Given the description of an element on the screen output the (x, y) to click on. 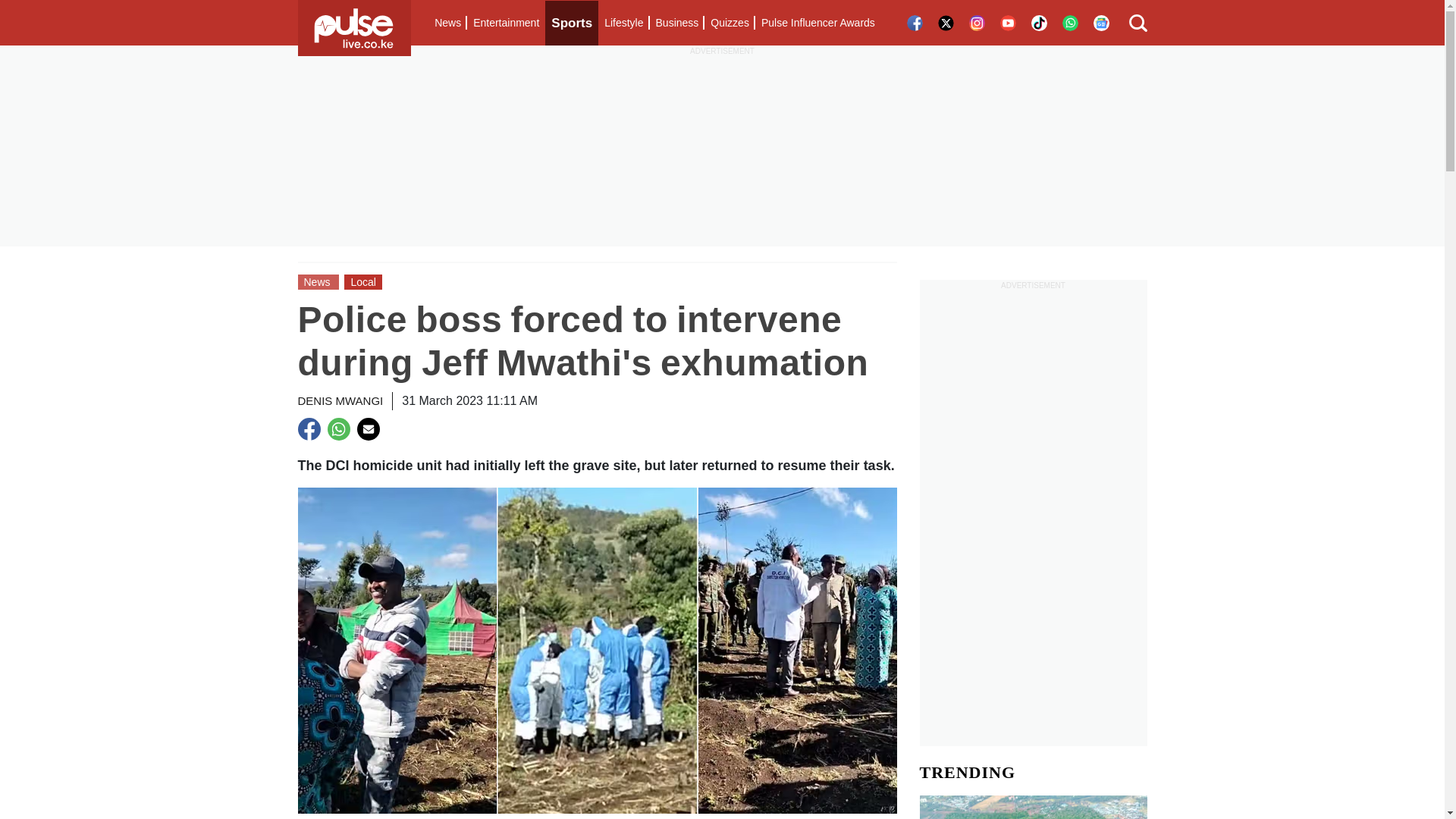
Entertainment (505, 22)
Business (676, 22)
Sports (571, 22)
Lifestyle (623, 22)
Pulse Influencer Awards (817, 22)
Quizzes (729, 22)
